Given the description of an element on the screen output the (x, y) to click on. 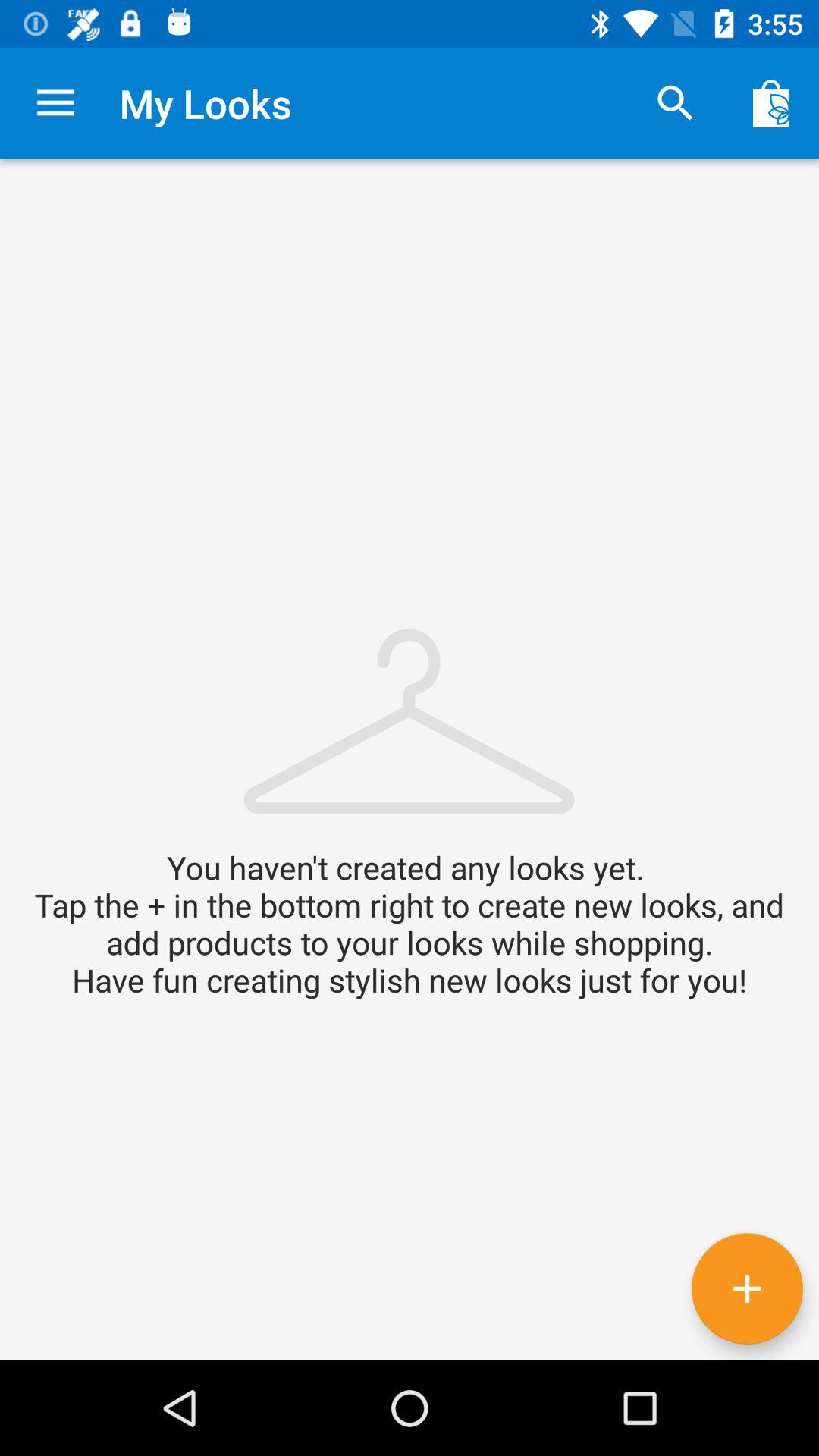
launch the icon to the right of the my looks icon (675, 103)
